Given the description of an element on the screen output the (x, y) to click on. 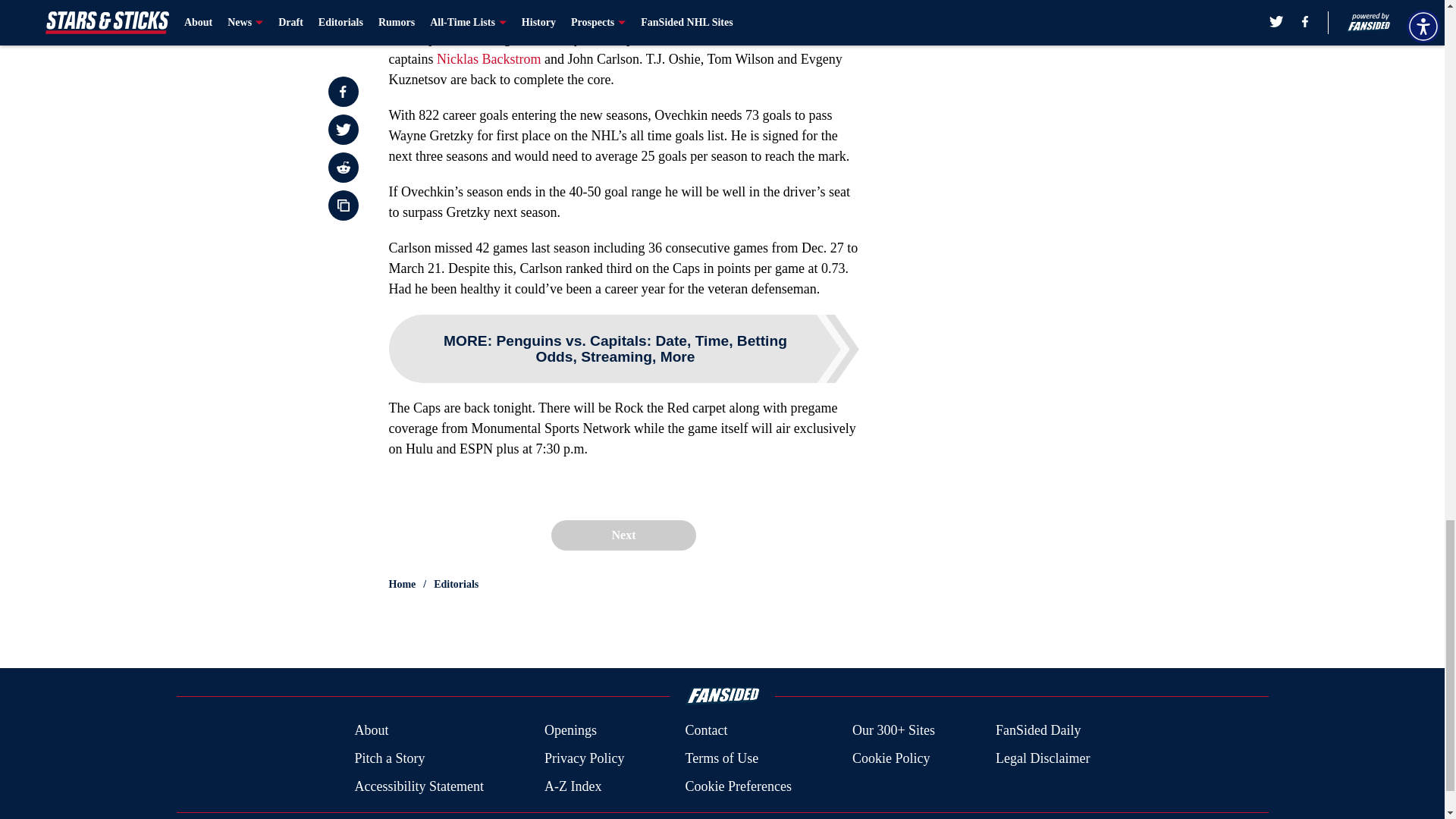
Nicklas Backstrom (488, 58)
Alex Ovechkin (697, 38)
